Given the description of an element on the screen output the (x, y) to click on. 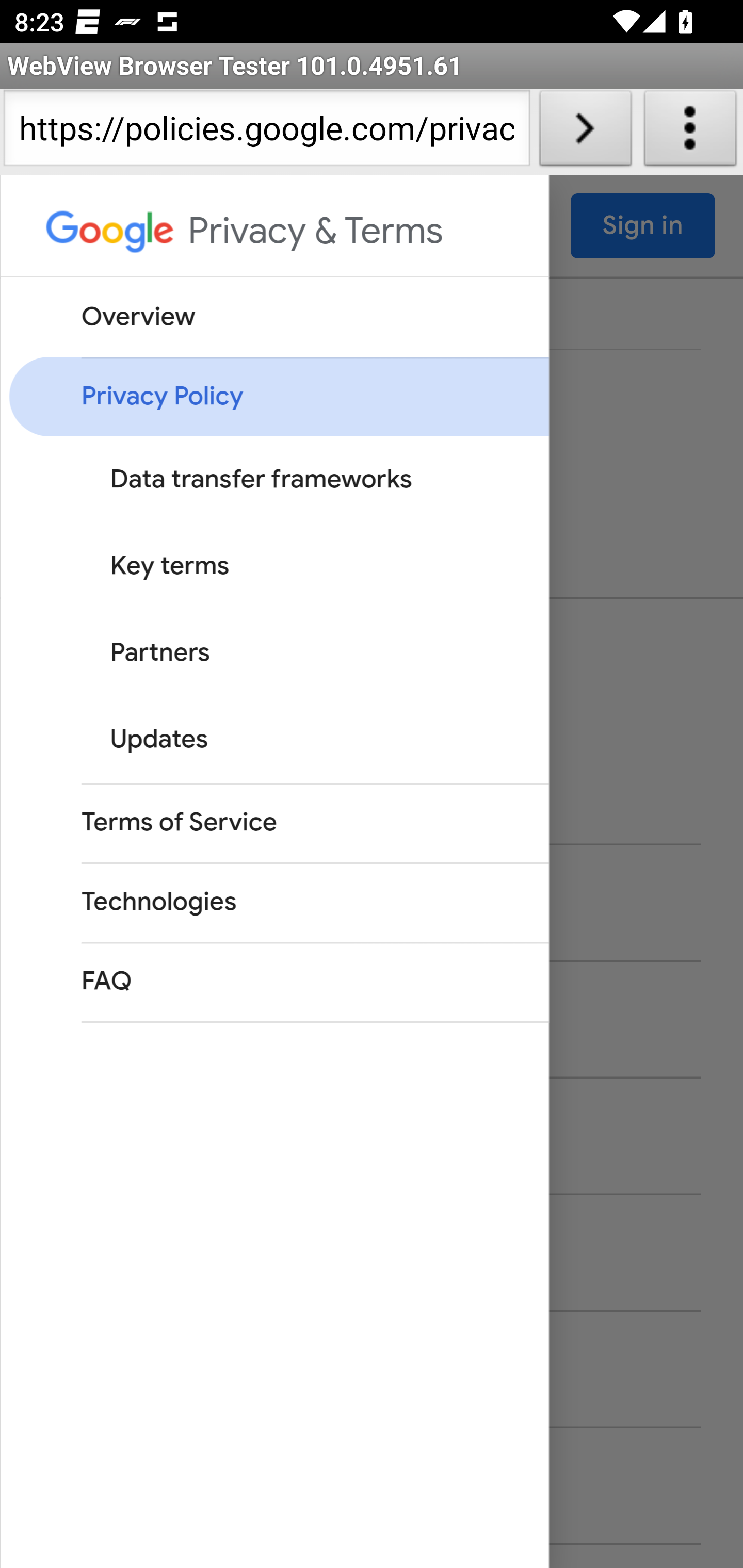
https://policies.google.com/privacy?gl=HK&hl=en (266, 132)
Load URL (585, 132)
About WebView (690, 132)
Google Google Google (111, 239)
Overview (278, 318)
Privacy Policy (278, 398)
Data transfer frameworks (292, 481)
Key terms (292, 567)
Partners (292, 654)
Updates (292, 740)
Terms of Service (278, 824)
Technologies (278, 902)
FAQ (278, 982)
